Given the description of an element on the screen output the (x, y) to click on. 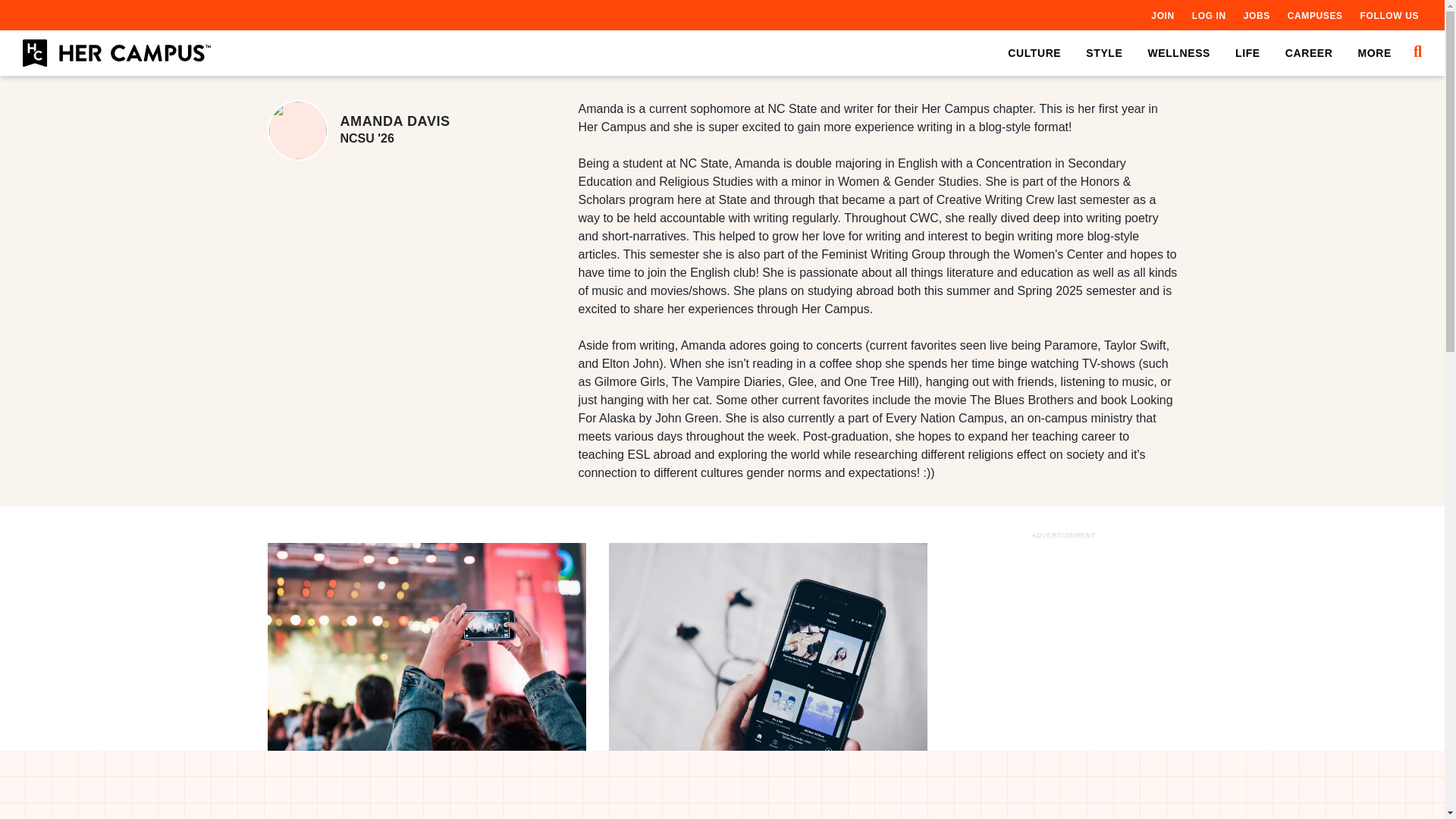
JOBS (1256, 15)
LOG IN (1208, 15)
JOIN (1162, 15)
My Spotify Wrapped Explained 2 (767, 648)
CAMPUSES (1314, 15)
